Given the description of an element on the screen output the (x, y) to click on. 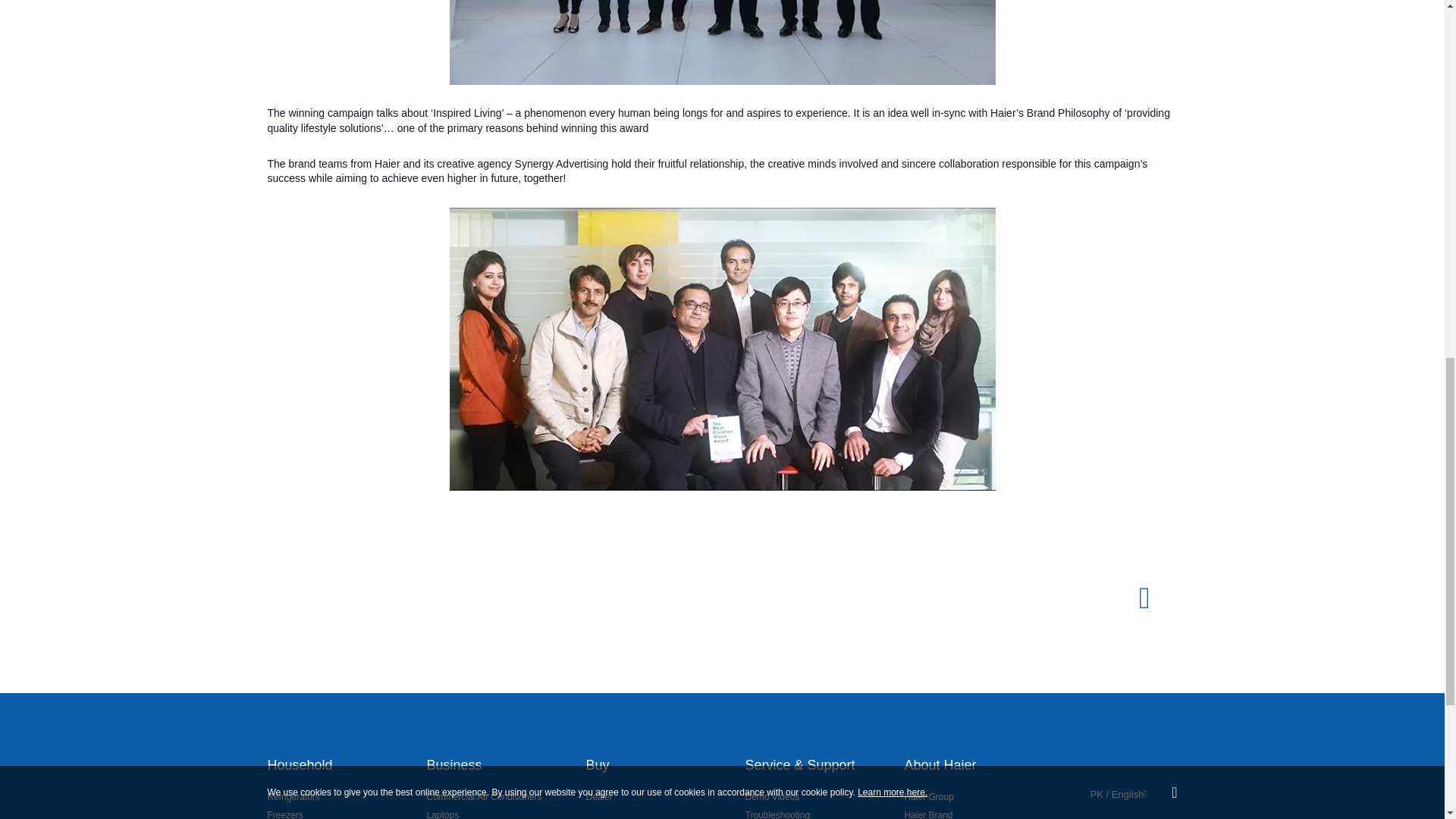
Household (298, 765)
Refrigerators (292, 796)
Freezers (284, 812)
